Given the description of an element on the screen output the (x, y) to click on. 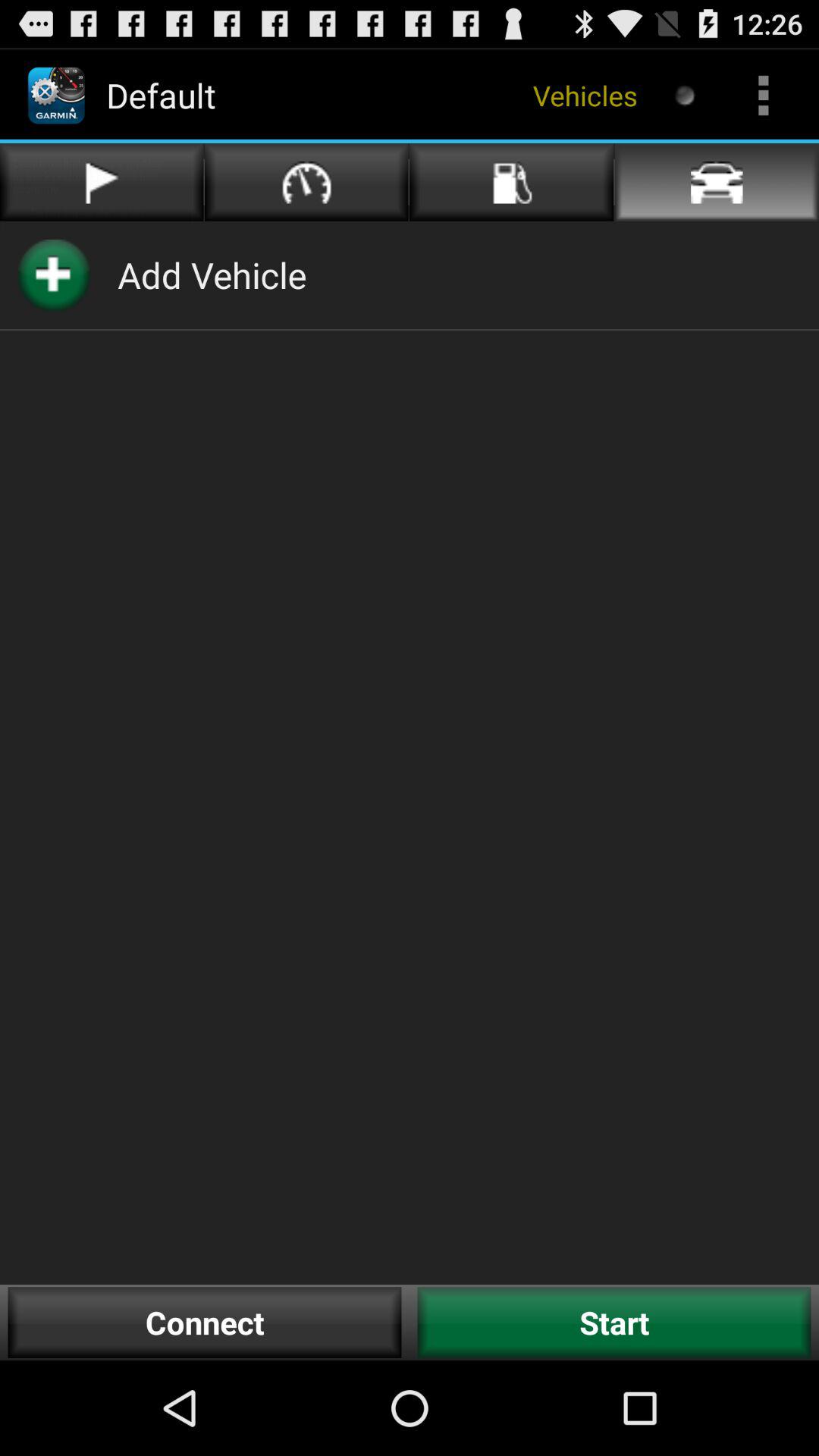
select the button to the left of the start button (204, 1322)
